Given the description of an element on the screen output the (x, y) to click on. 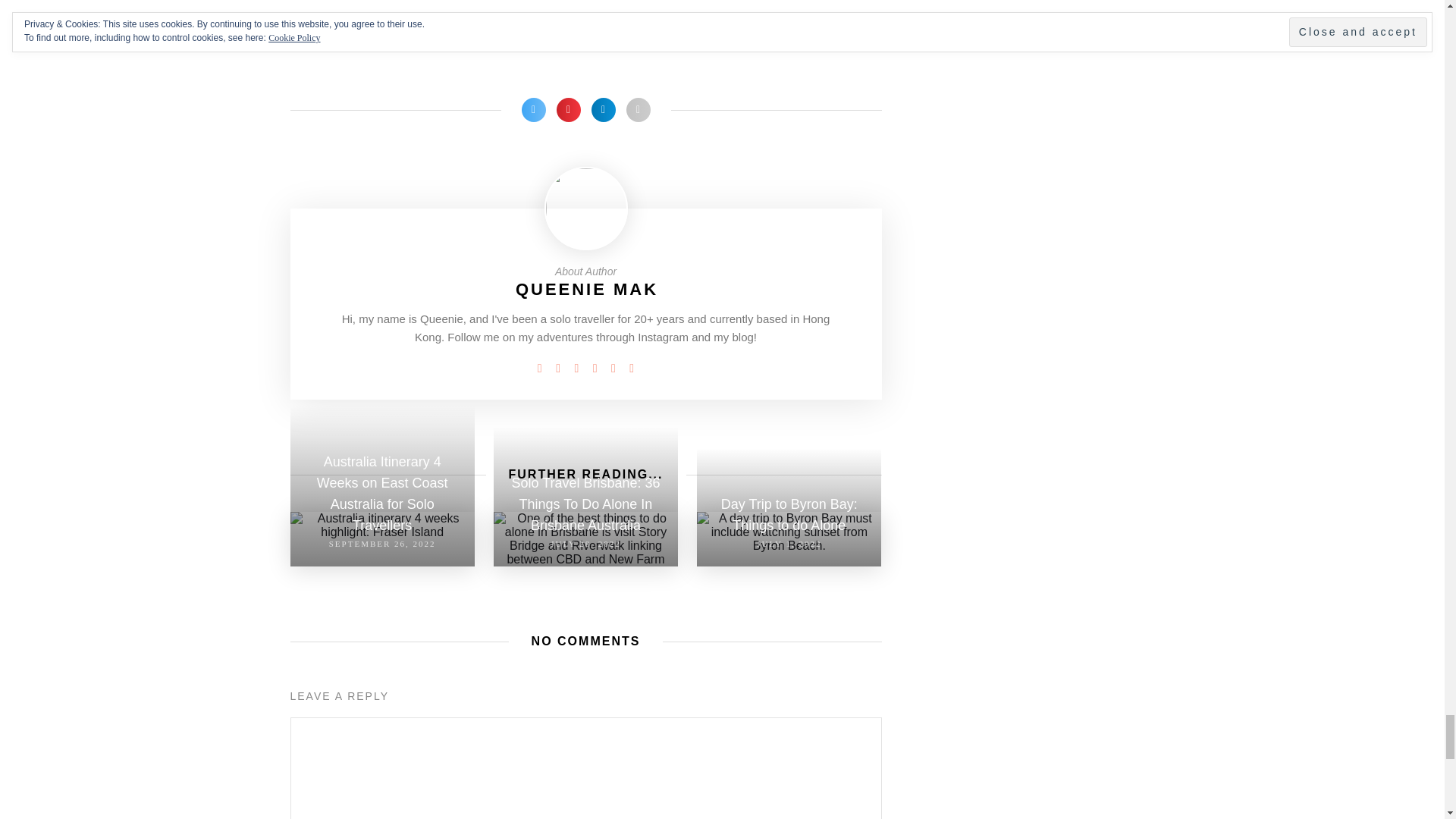
Posts by queenie mak (586, 289)
